Given the description of an element on the screen output the (x, y) to click on. 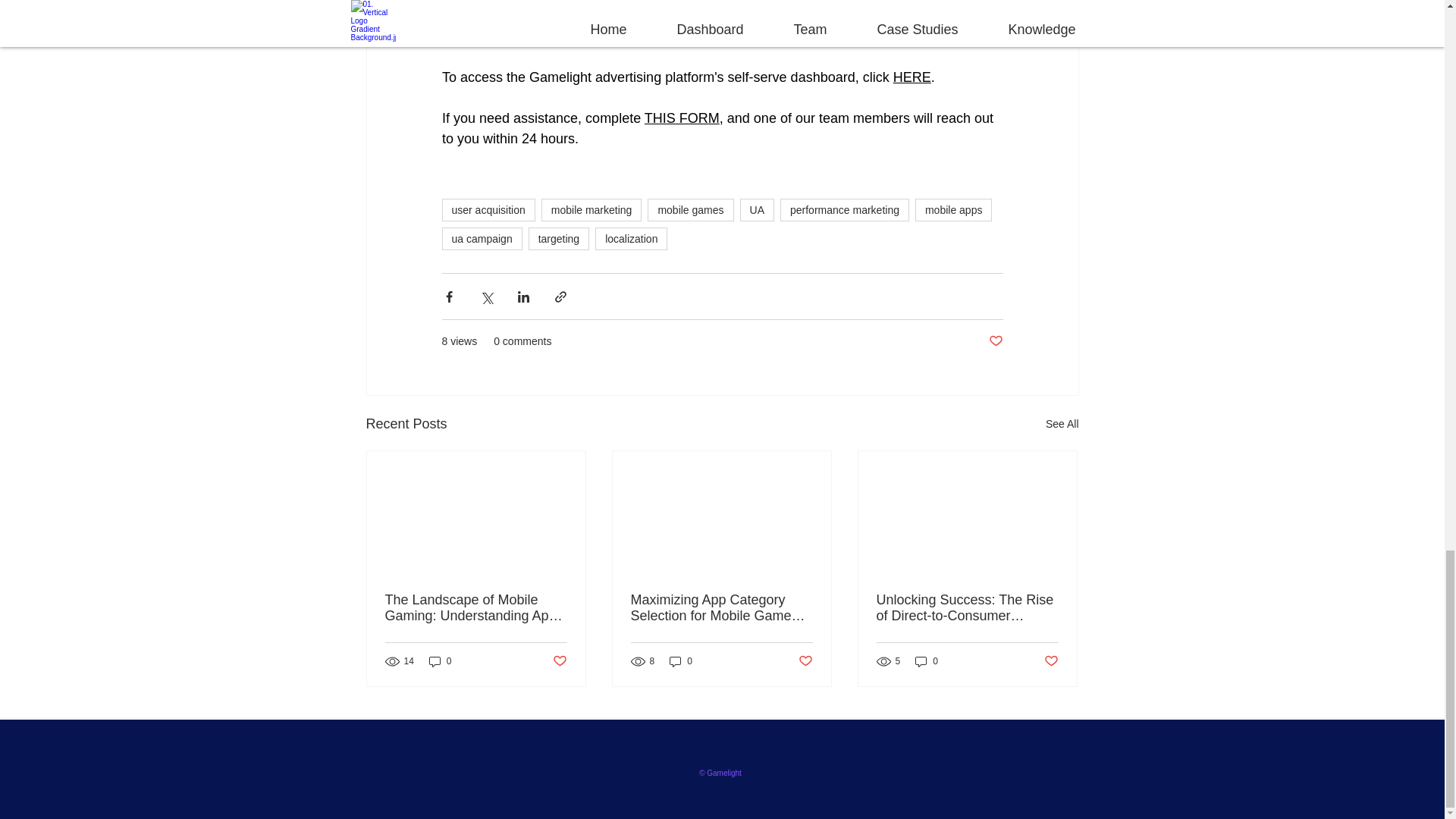
Post not marked as liked (995, 341)
Post not marked as liked (558, 660)
0 (440, 661)
localization (630, 238)
HERE (911, 77)
0 (681, 661)
ua campaign (481, 238)
user acquisition (487, 210)
See All (1061, 423)
